Given the description of an element on the screen output the (x, y) to click on. 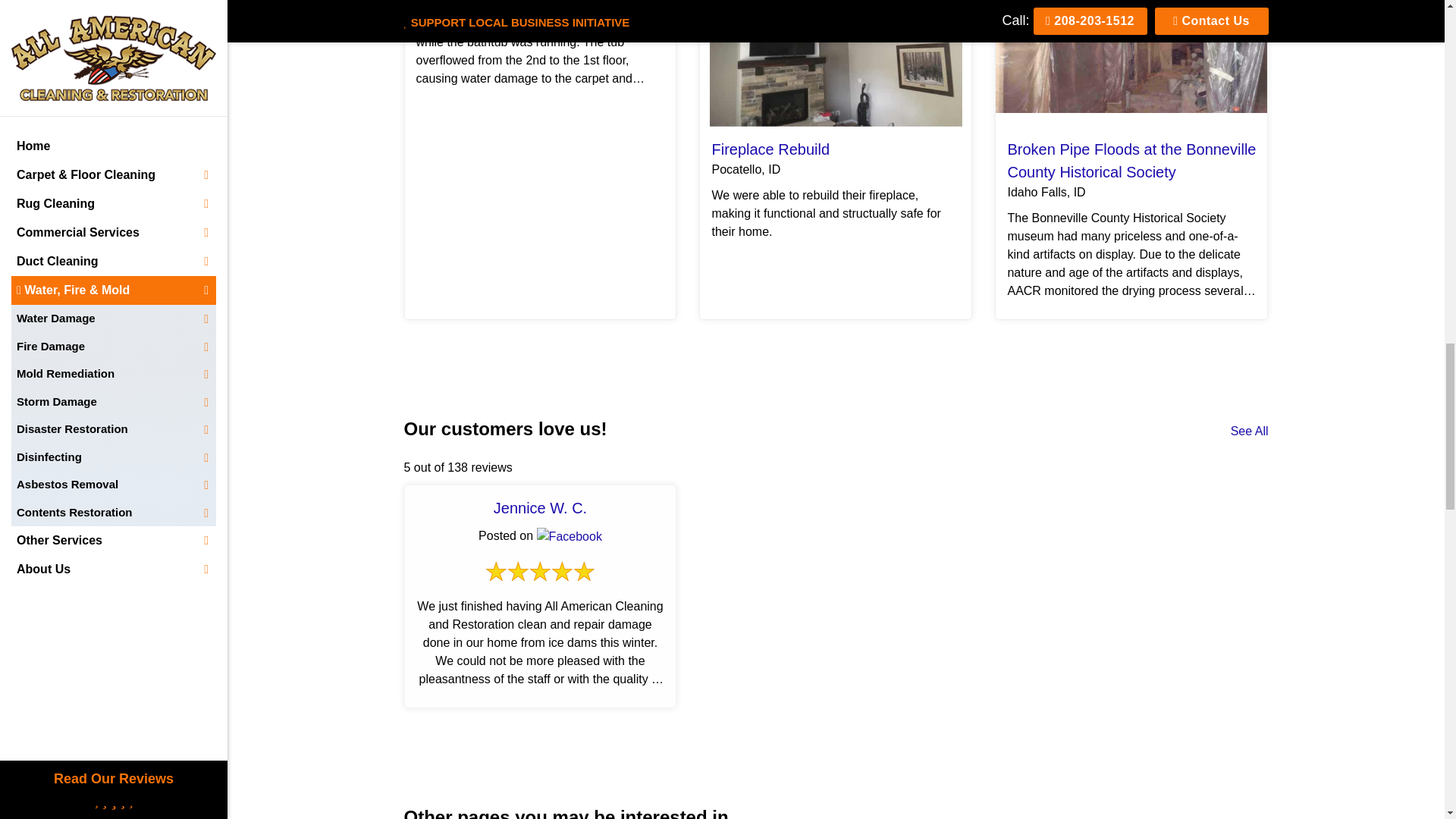
Fireplace Rebuild (770, 149)
Jennice W. C. (539, 507)
See All (1249, 431)
This review was posted on Facebook (569, 536)
